Given the description of an element on the screen output the (x, y) to click on. 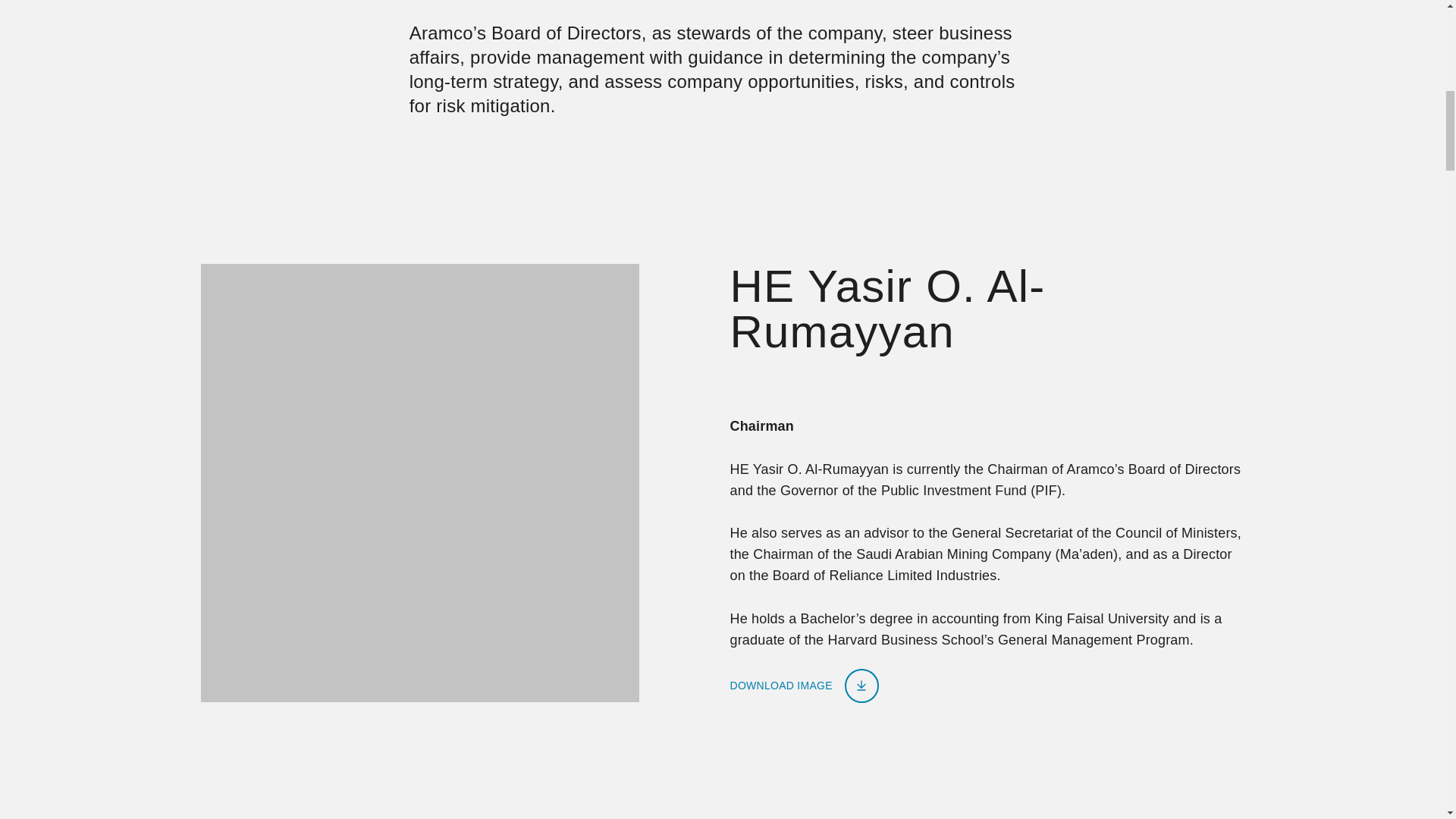
DOWNLOAD IMAGE (803, 685)
